Given the description of an element on the screen output the (x, y) to click on. 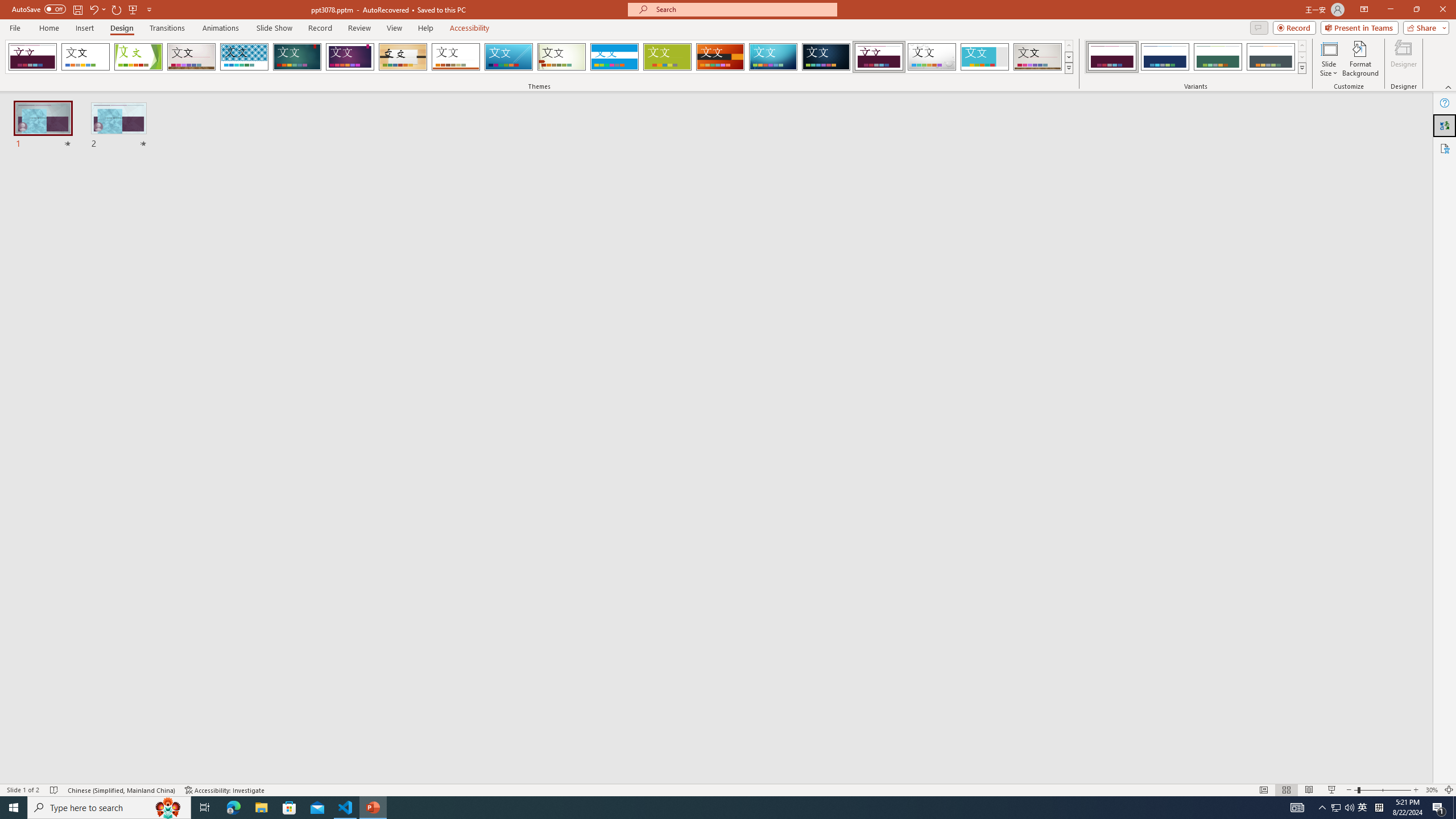
Wisp (561, 56)
Retrospect (455, 56)
Dividend Variant 3 (1217, 56)
